Given the description of an element on the screen output the (x, y) to click on. 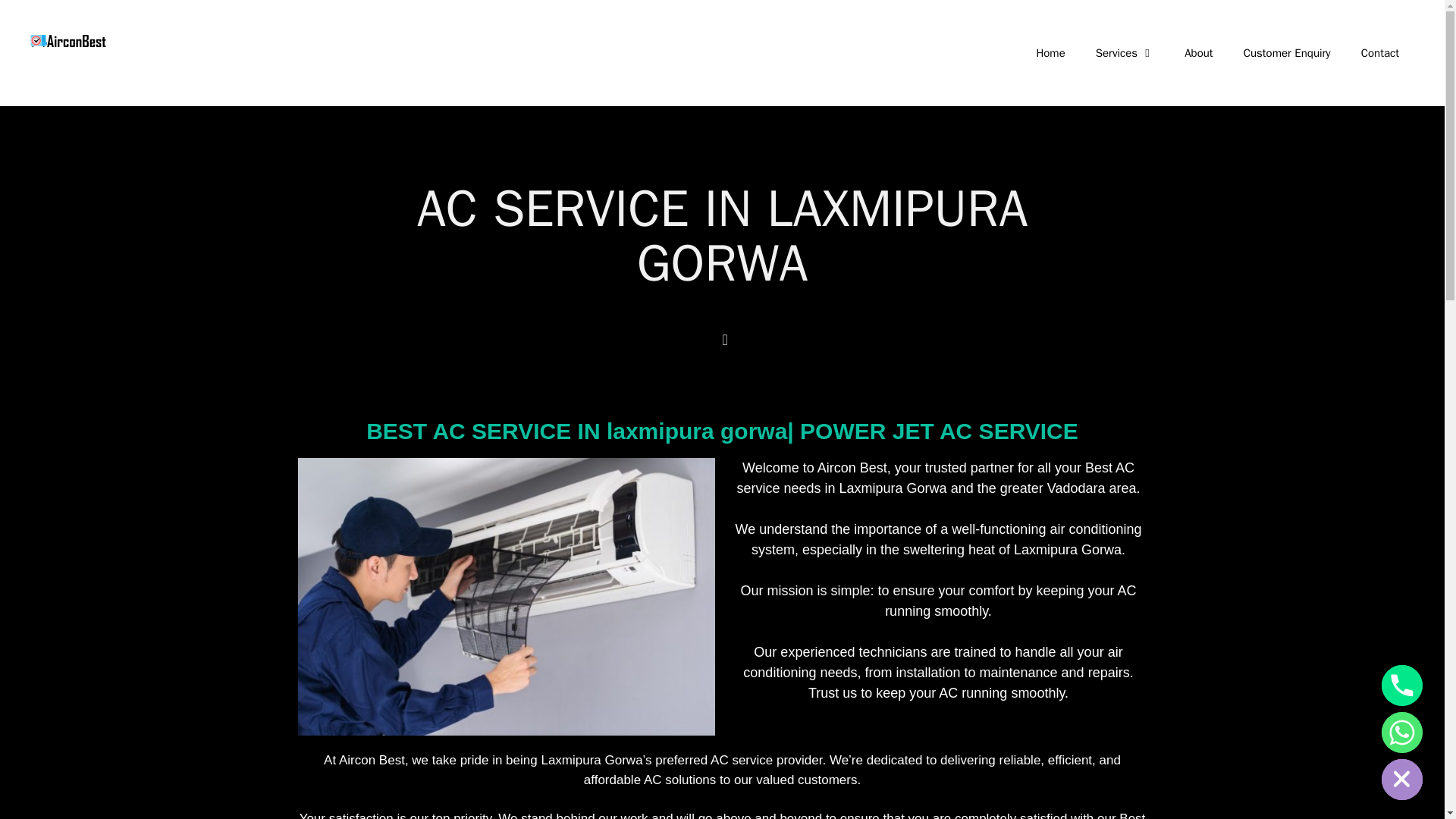
Contact (1379, 53)
Home (1050, 53)
Customer Enquiry (1286, 53)
Aircon Best (68, 39)
Services (1124, 53)
About (1198, 53)
Aircon Best (68, 40)
